Given the description of an element on the screen output the (x, y) to click on. 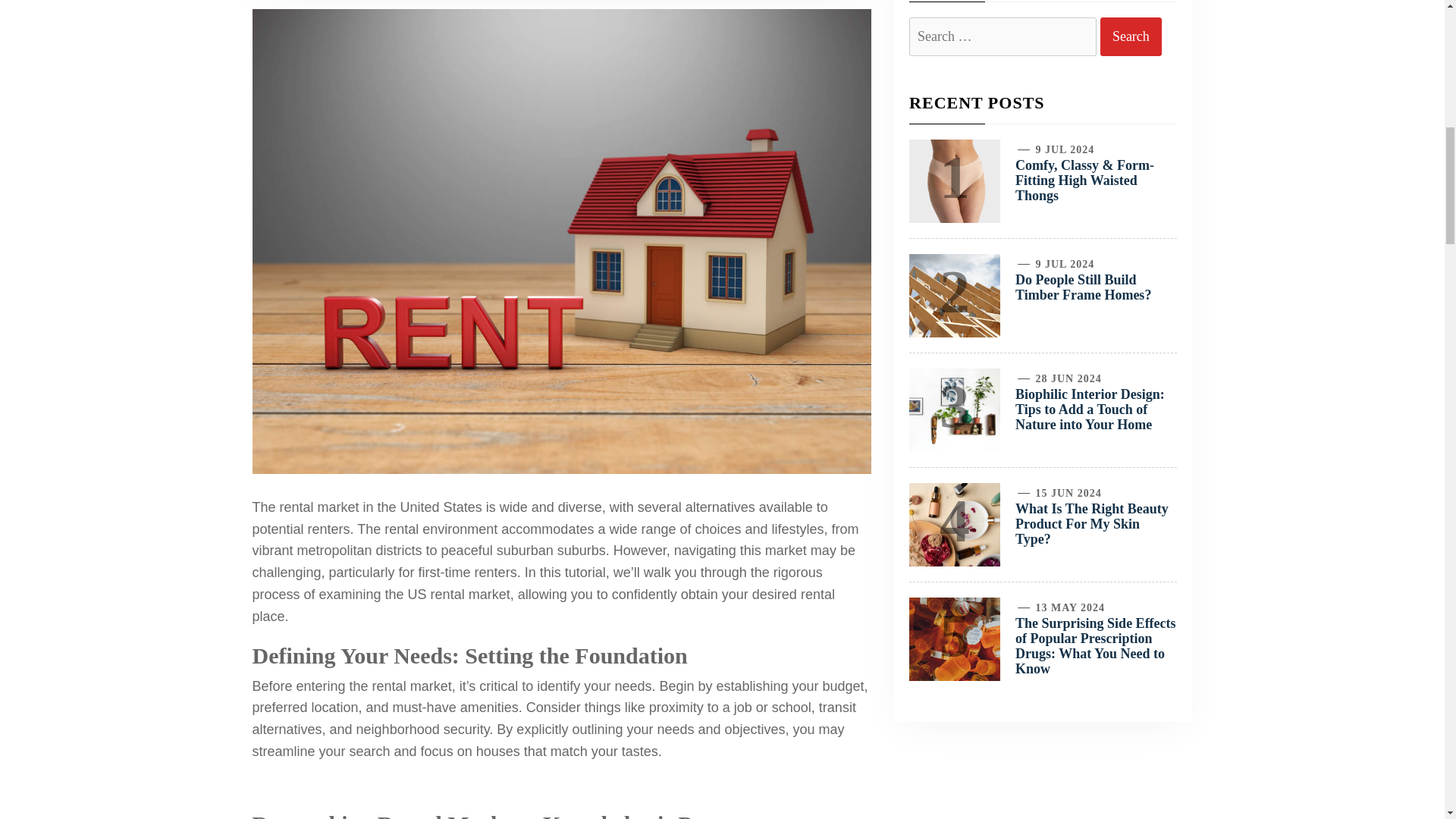
Search (1130, 36)
Search (1130, 36)
